Given the description of an element on the screen output the (x, y) to click on. 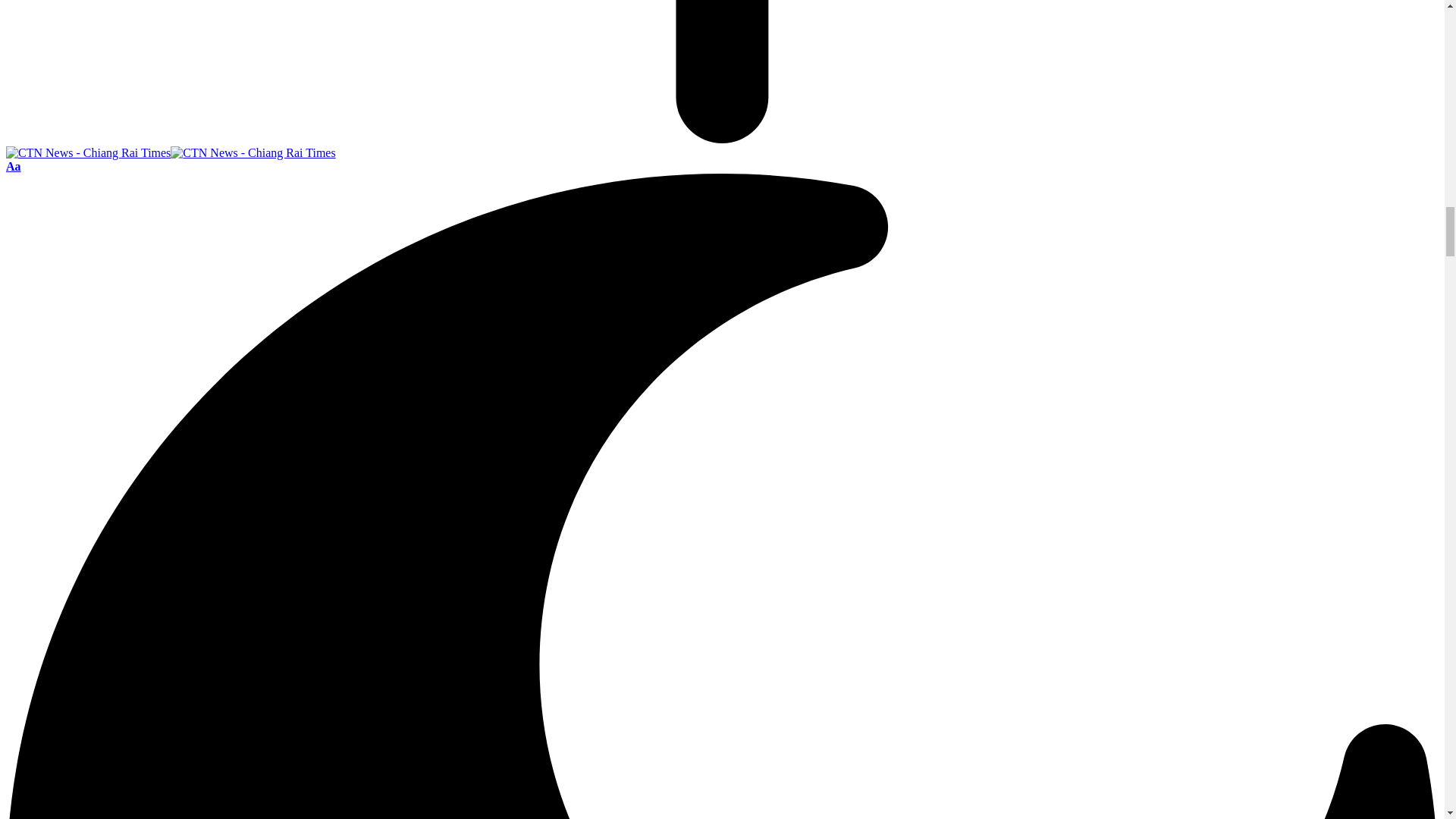
CTN News - Chiang Rai Times (170, 152)
